Given the description of an element on the screen output the (x, y) to click on. 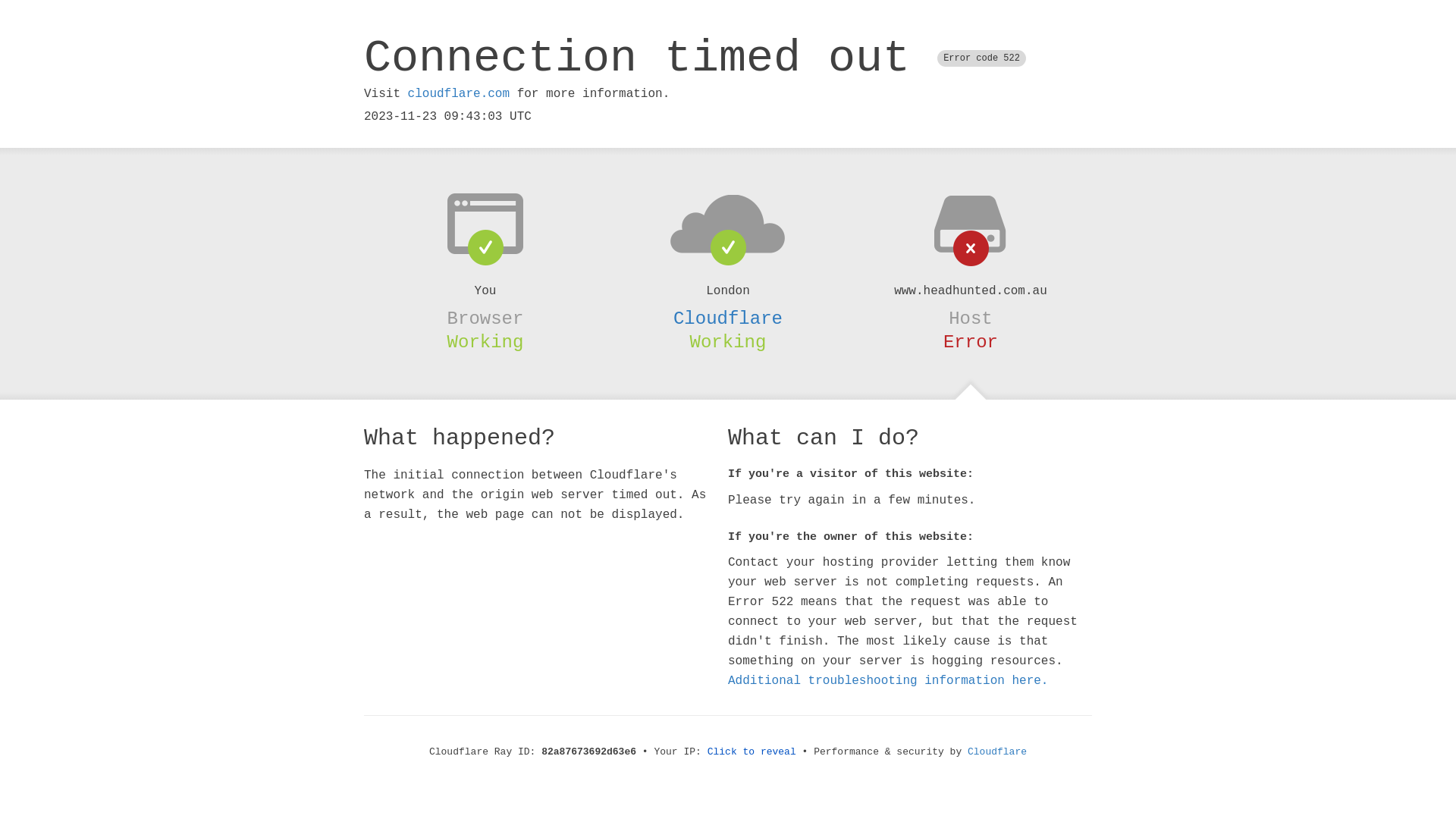
Cloudflare Element type: text (996, 751)
Click to reveal Element type: text (751, 751)
Additional troubleshooting information here. Element type: text (888, 680)
Cloudflare Element type: text (727, 318)
cloudflare.com Element type: text (458, 93)
